Given the description of an element on the screen output the (x, y) to click on. 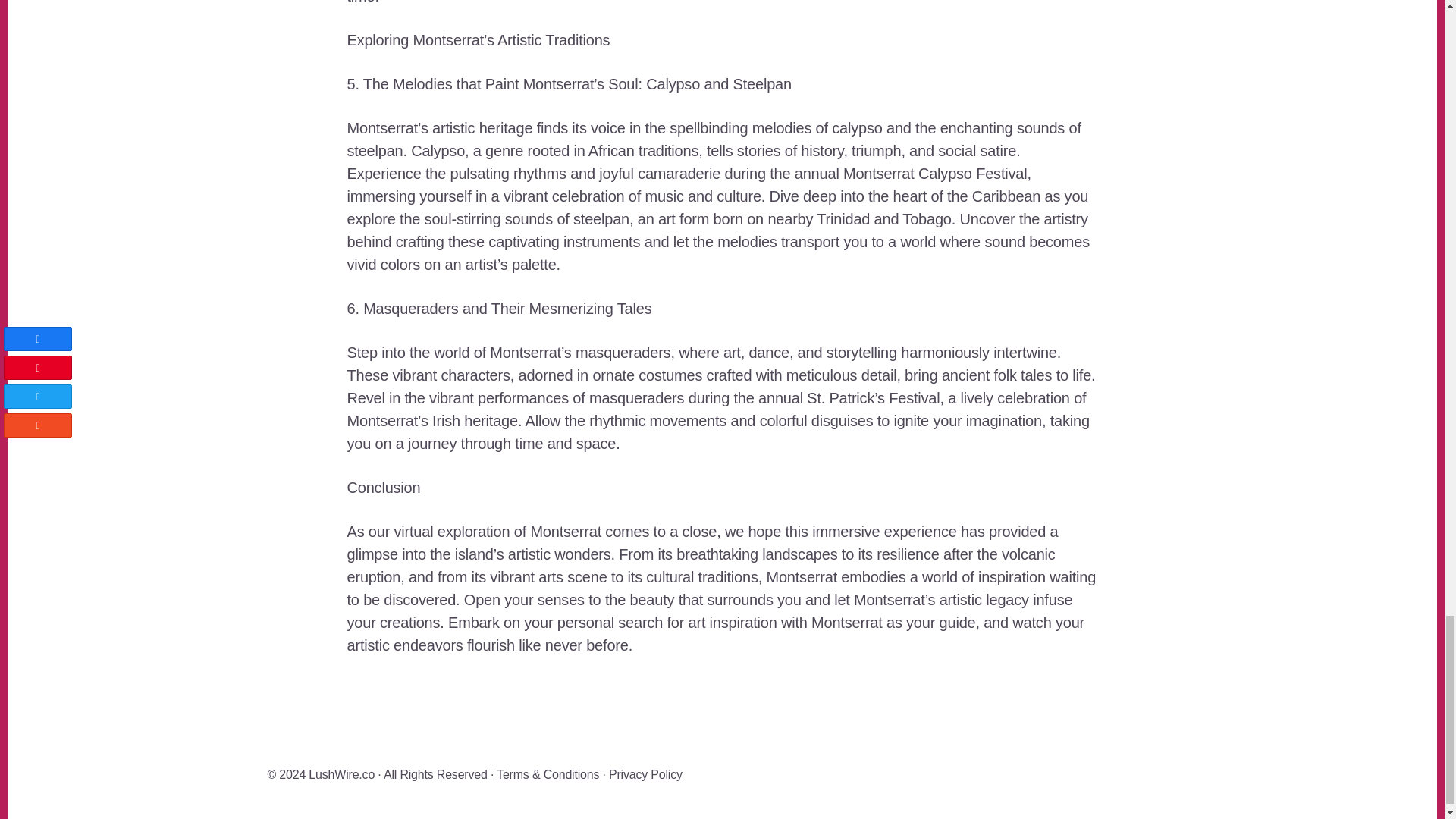
Privacy Policy (645, 774)
